Given the description of an element on the screen output the (x, y) to click on. 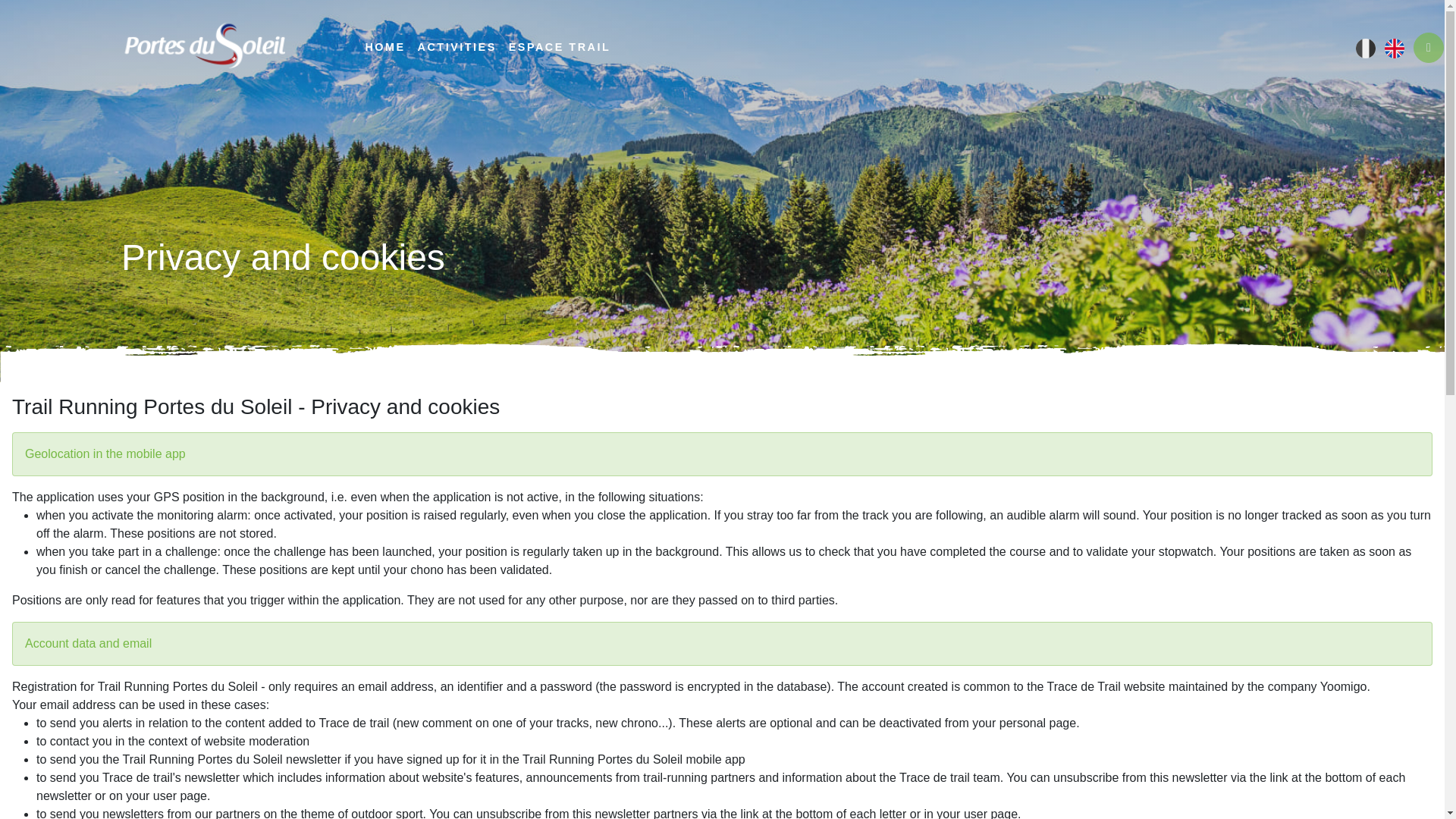
HOME (384, 47)
Log in (1428, 47)
ESPACE TRAIL (558, 47)
ACTIVITIES (457, 47)
